Given the description of an element on the screen output the (x, y) to click on. 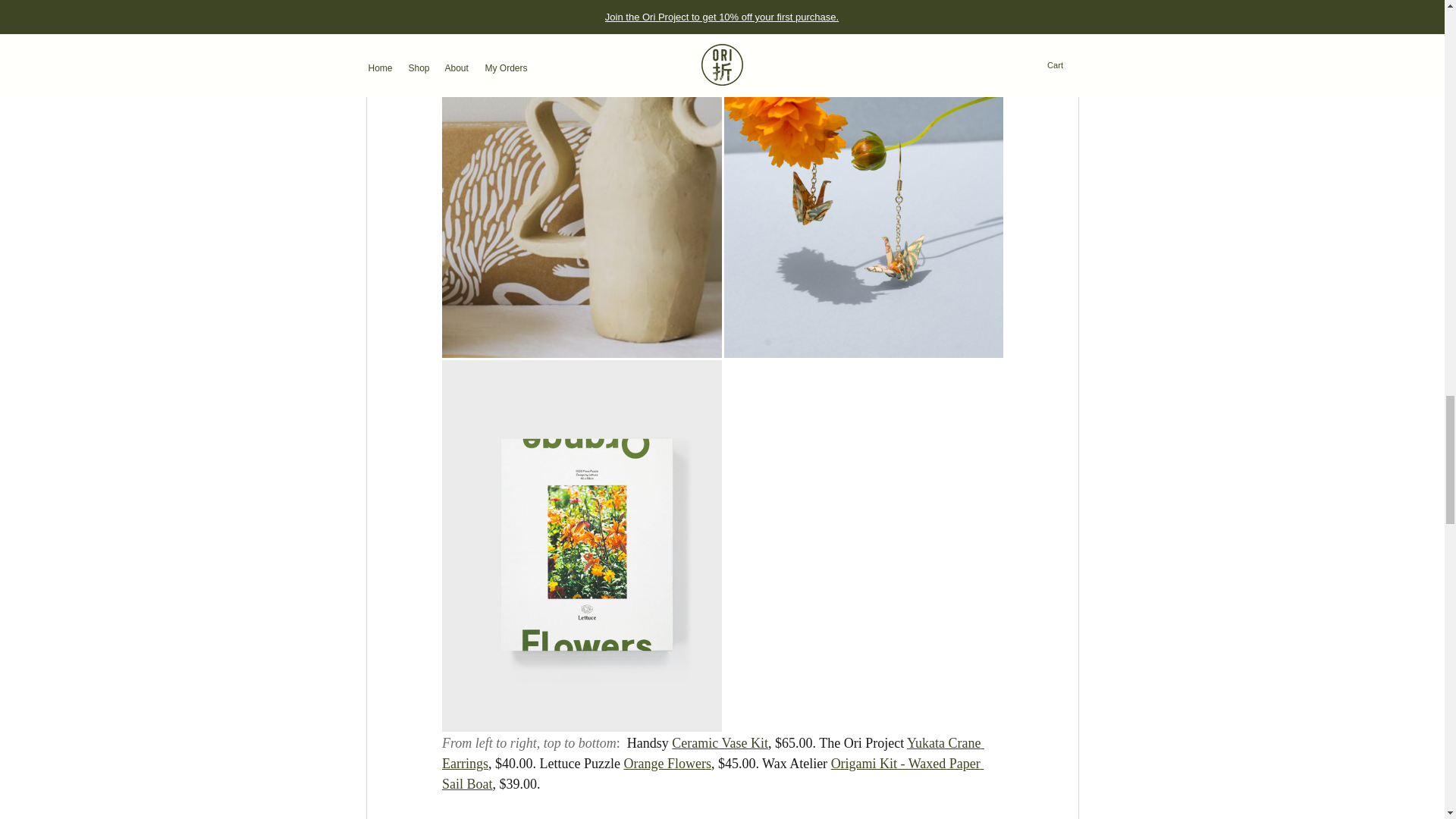
Origami Kit - Waxed Paper Sail Boat (711, 773)
Ceramic Vase Kit (719, 743)
Yukata Crane Earrings (712, 753)
Orange Flowers (666, 763)
